Given the description of an element on the screen output the (x, y) to click on. 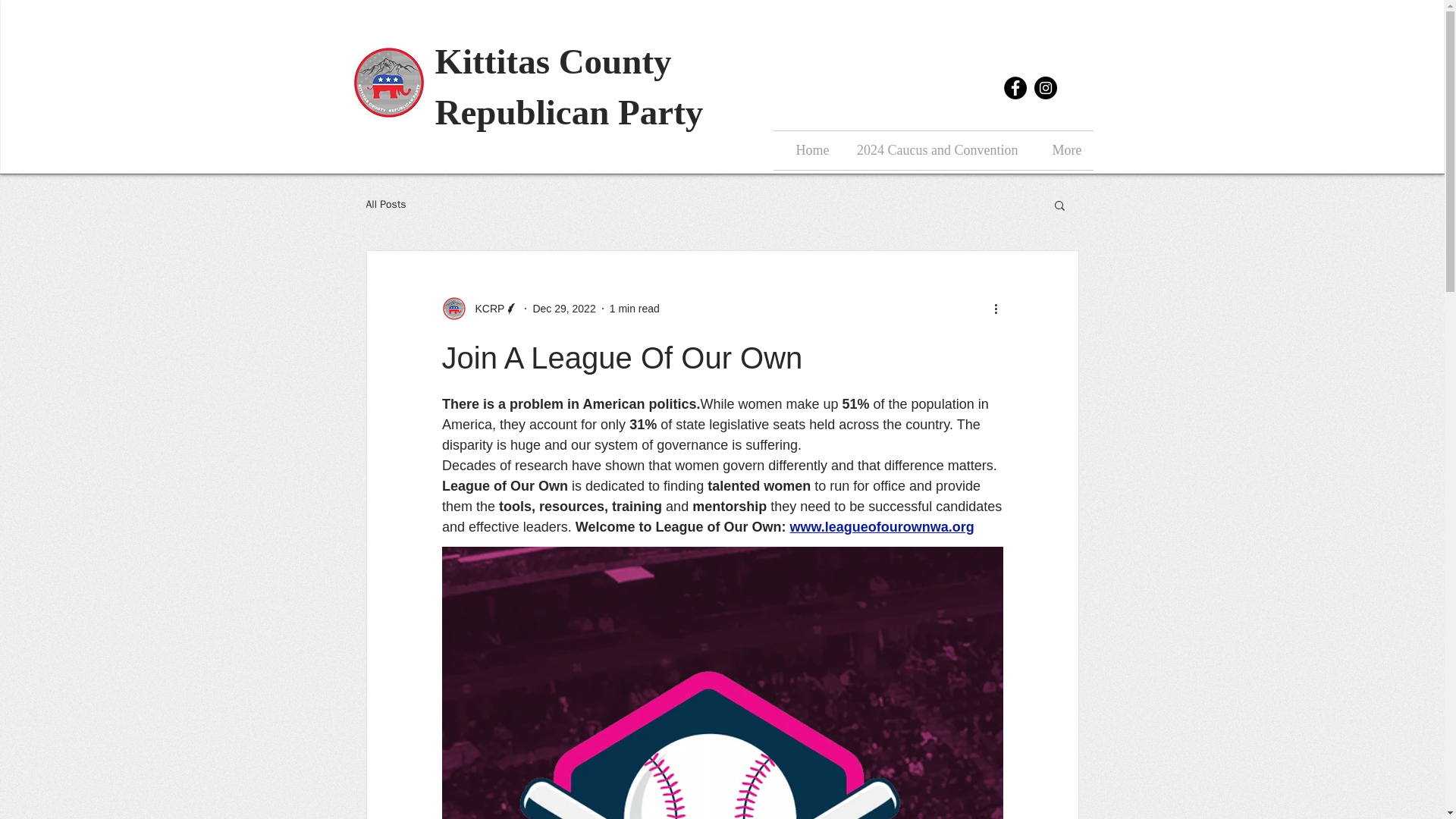
KCRP (484, 308)
Dec 29, 2022 (563, 307)
Home (807, 150)
2024 Caucus and Convention (934, 150)
All Posts (385, 204)
1 min read (634, 307)
www.leagueofourownwa.org (881, 526)
KCRP (479, 308)
